Given the description of an element on the screen output the (x, y) to click on. 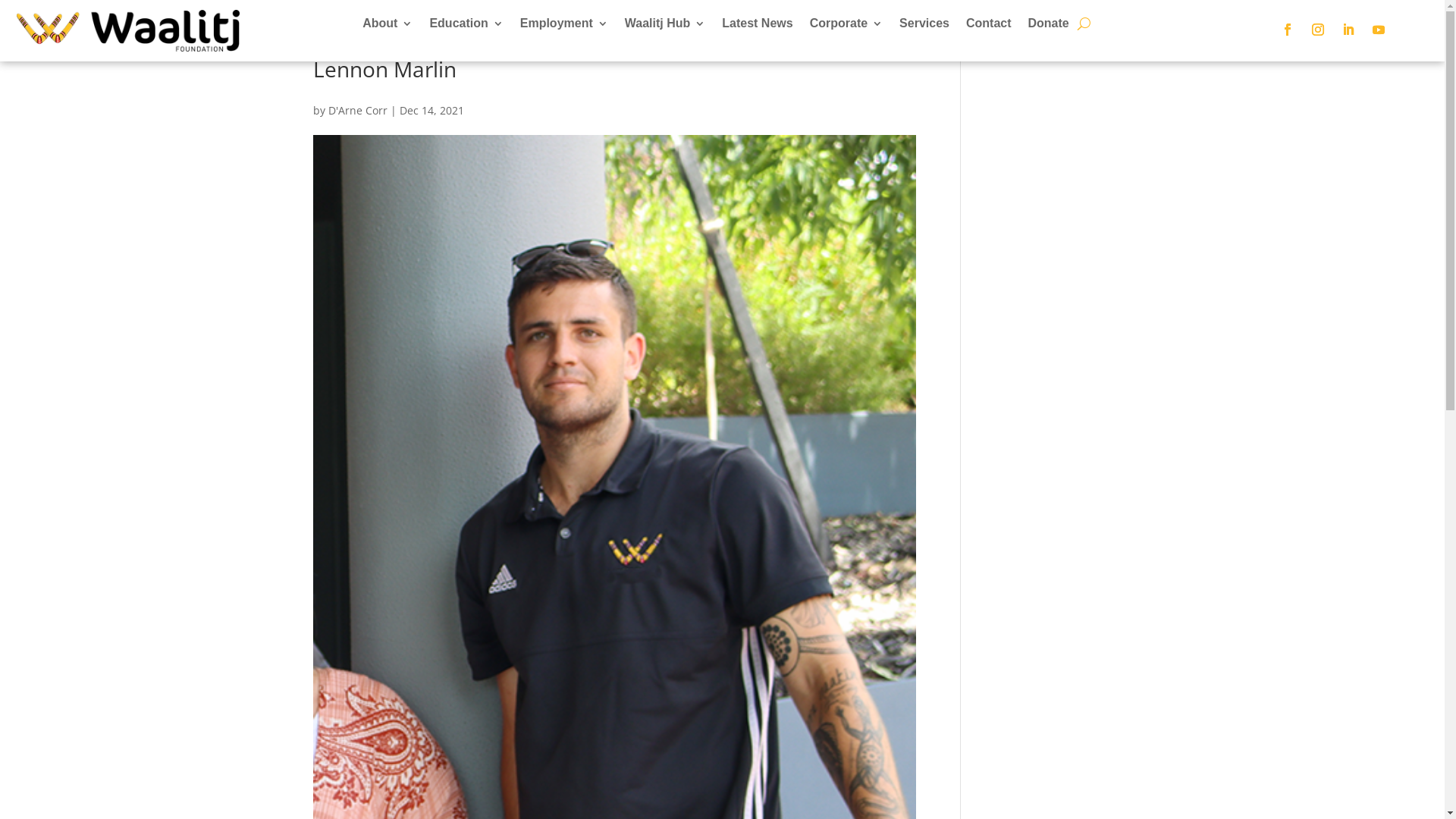
Waalitj Hub Element type: text (665, 26)
Contact Element type: text (988, 26)
Waalitj_Logo_Horiz_320x60 Element type: hover (127, 30)
Employment Element type: text (564, 26)
Services Element type: text (924, 26)
Education Element type: text (465, 26)
Follow on LinkedIn Element type: hover (1348, 29)
Follow on Youtube Element type: hover (1378, 29)
D'Arne Corr Element type: text (356, 110)
Follow on Facebook Element type: hover (1287, 29)
Donate Element type: text (1048, 26)
Follow on Instagram Element type: hover (1317, 29)
About Element type: text (387, 26)
Latest News Element type: text (756, 26)
Corporate Element type: text (845, 26)
